Given the description of an element on the screen output the (x, y) to click on. 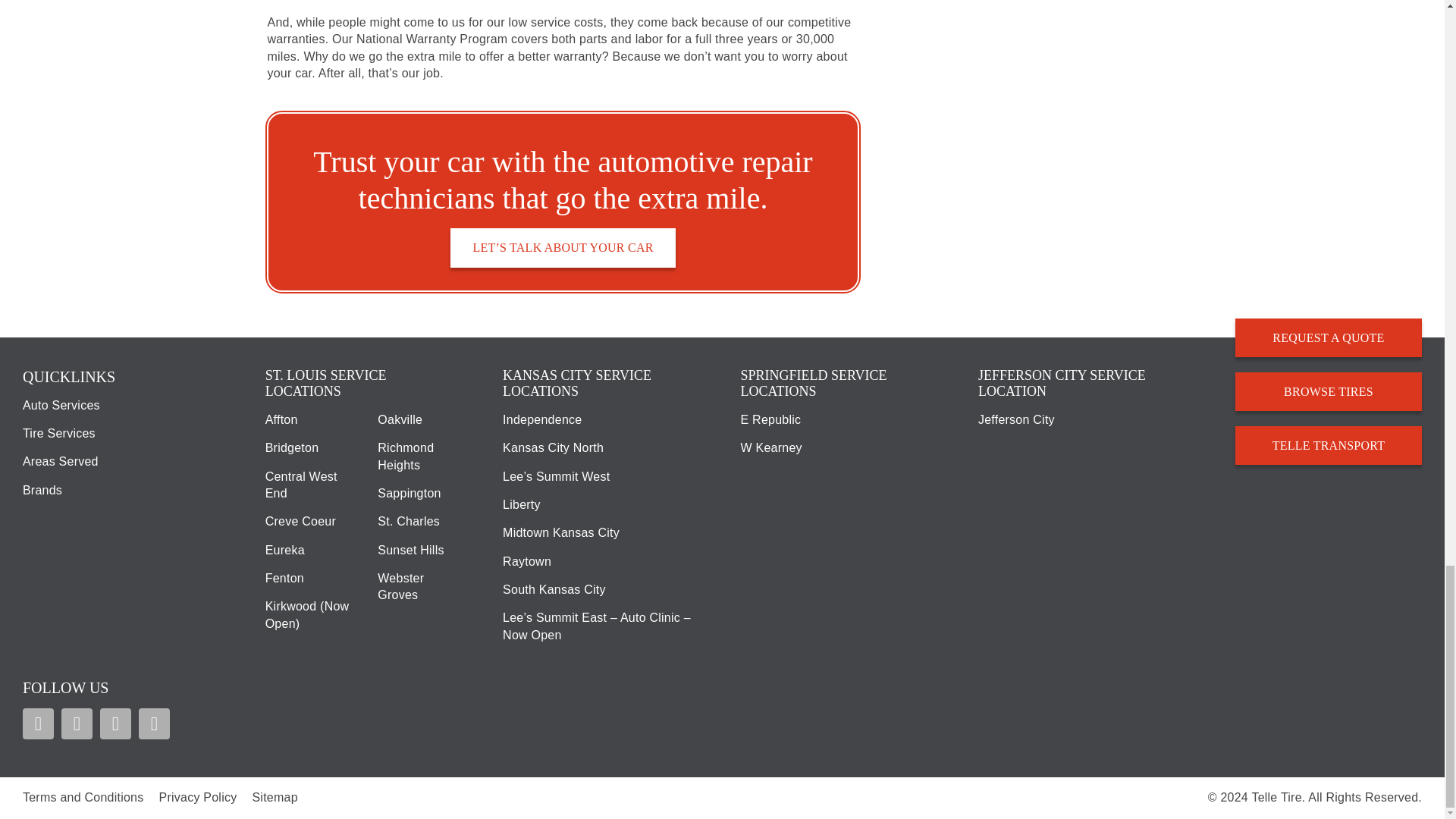
X (77, 723)
YouTube (115, 723)
Facebook (38, 723)
LinkedIn (154, 723)
